Given the description of an element on the screen output the (x, y) to click on. 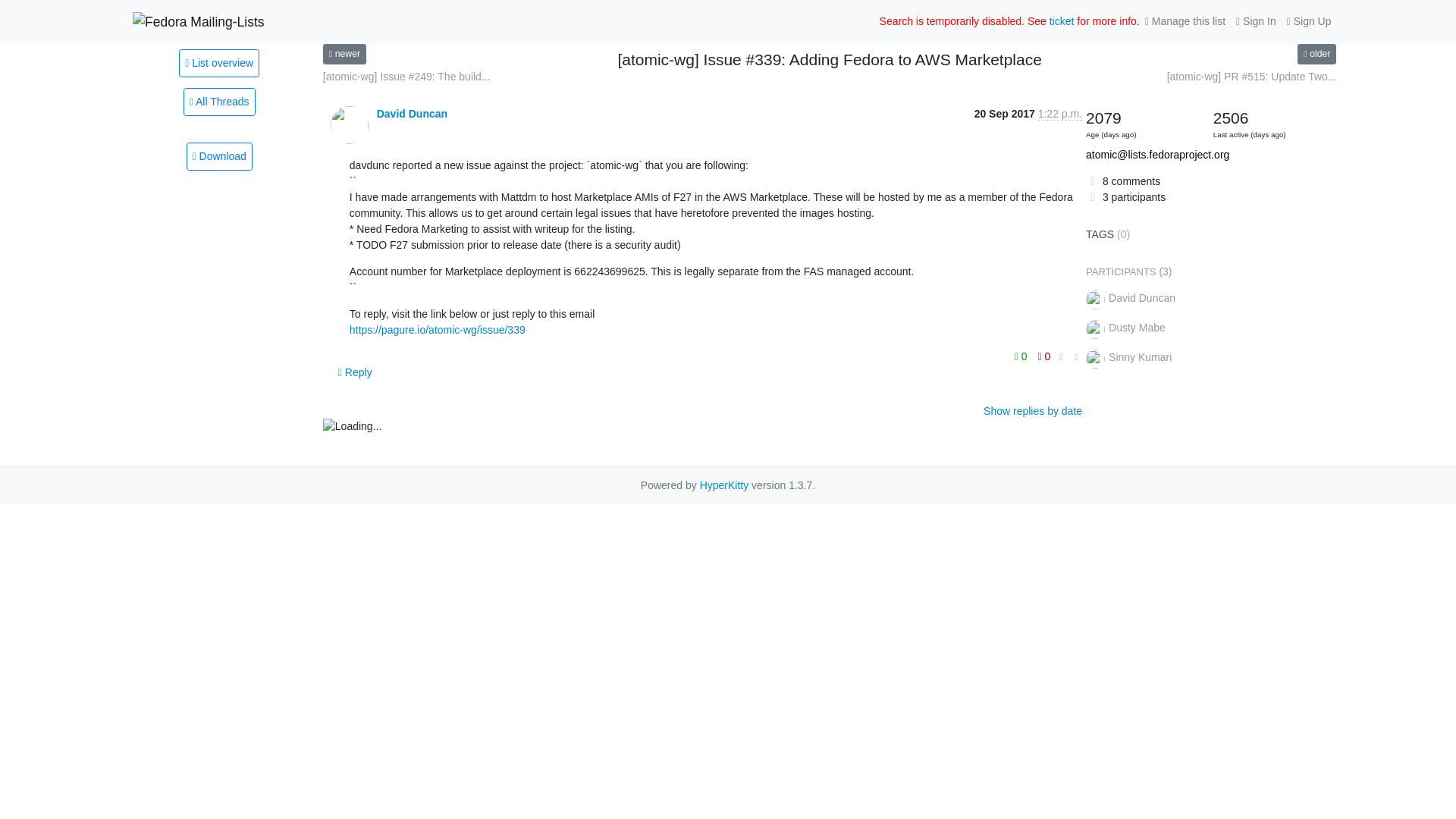
Sign Up (1308, 21)
All Threads (219, 101)
Sign In (1255, 21)
Manage this list (1185, 21)
Fedora Mailing-Lists (198, 21)
ticket (1061, 21)
You must be logged-in to vote. (1021, 356)
You must be logged-in to vote. (1043, 356)
Sign in to reply online (355, 371)
List overview (219, 62)
Sender's time: Sept. 20, 2017, 5:22 p.m. (1059, 113)
older (1316, 54)
Download (218, 156)
newer (344, 54)
See the profile for David Duncan (411, 113)
